Given the description of an element on the screen output the (x, y) to click on. 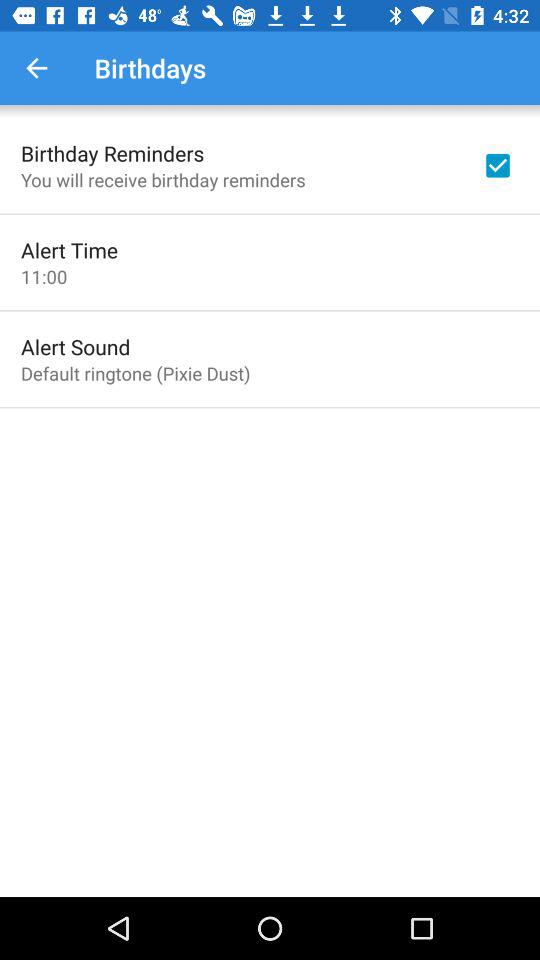
click item below alert sound icon (135, 373)
